Given the description of an element on the screen output the (x, y) to click on. 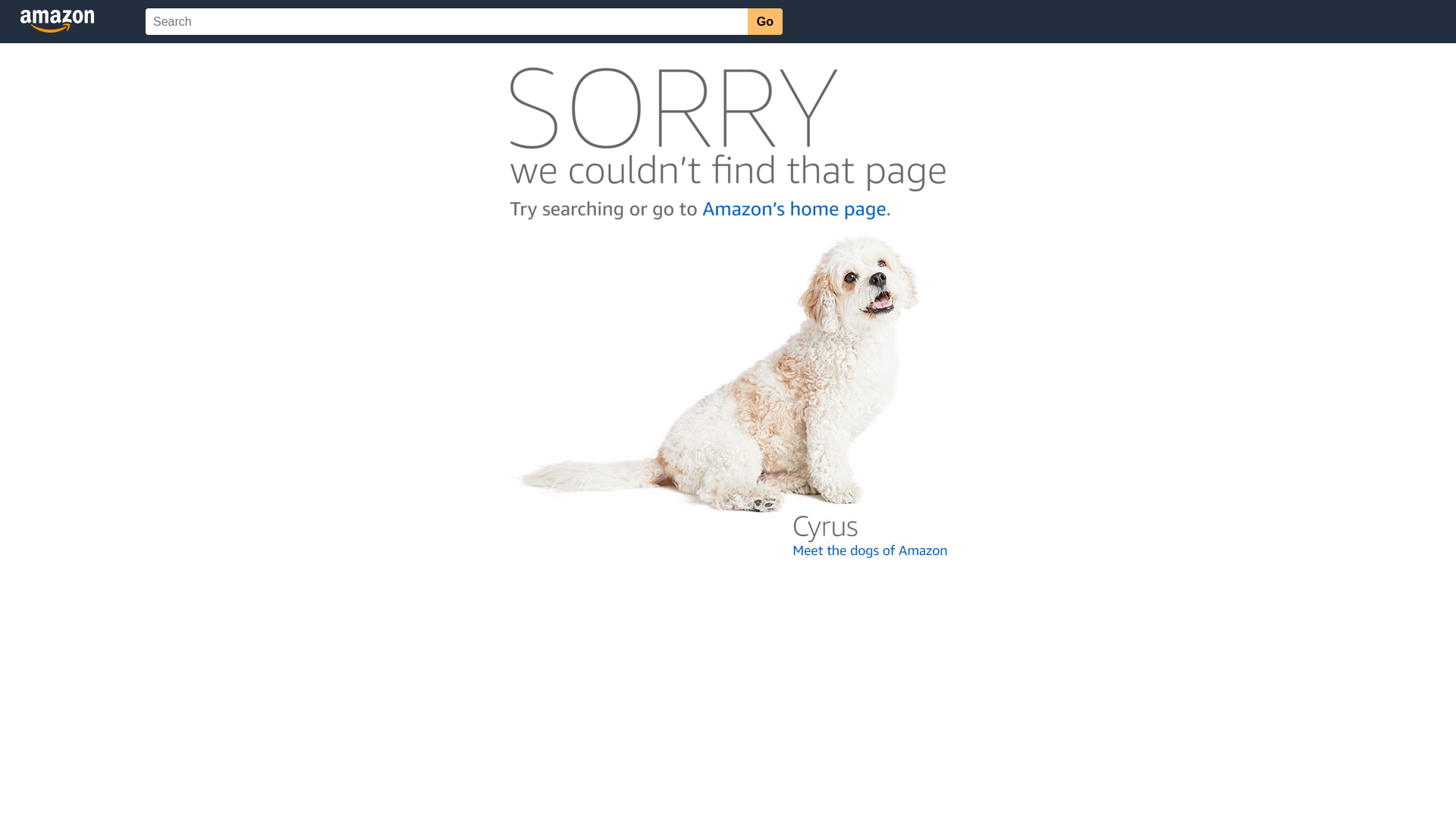
Go Element type: text (764, 21)
